Given the description of an element on the screen output the (x, y) to click on. 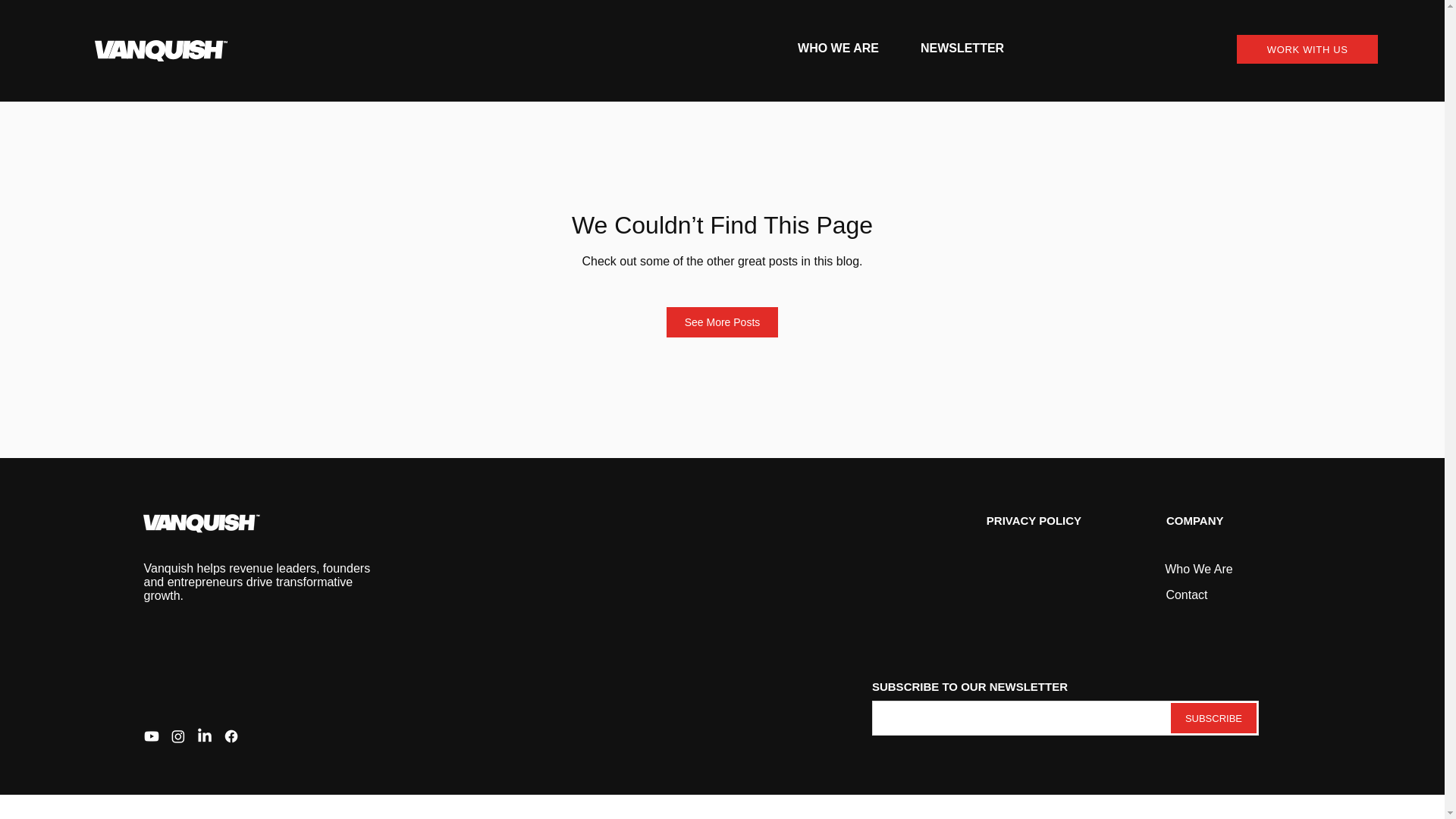
PRIVACY POLICY (1034, 520)
WORK WITH US (1306, 49)
WHO WE ARE (838, 48)
Who We Are (1198, 569)
See More Posts (722, 322)
NEWSLETTER (961, 48)
Contact (1186, 595)
SUBSCRIBE (1213, 717)
